Given the description of an element on the screen output the (x, y) to click on. 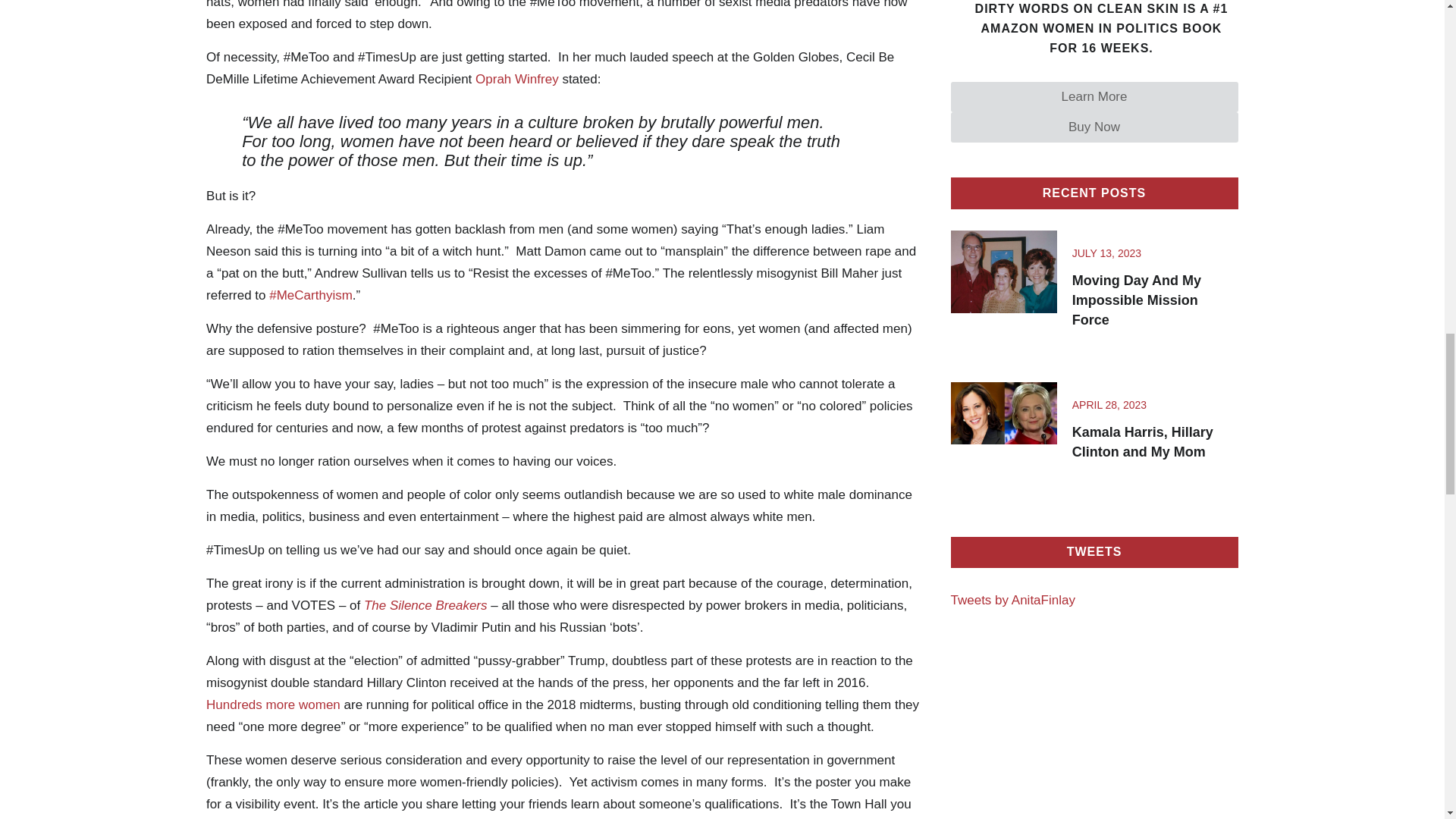
Oprah Winfrey (517, 79)
The Silence Breakers (425, 605)
